Given the description of an element on the screen output the (x, y) to click on. 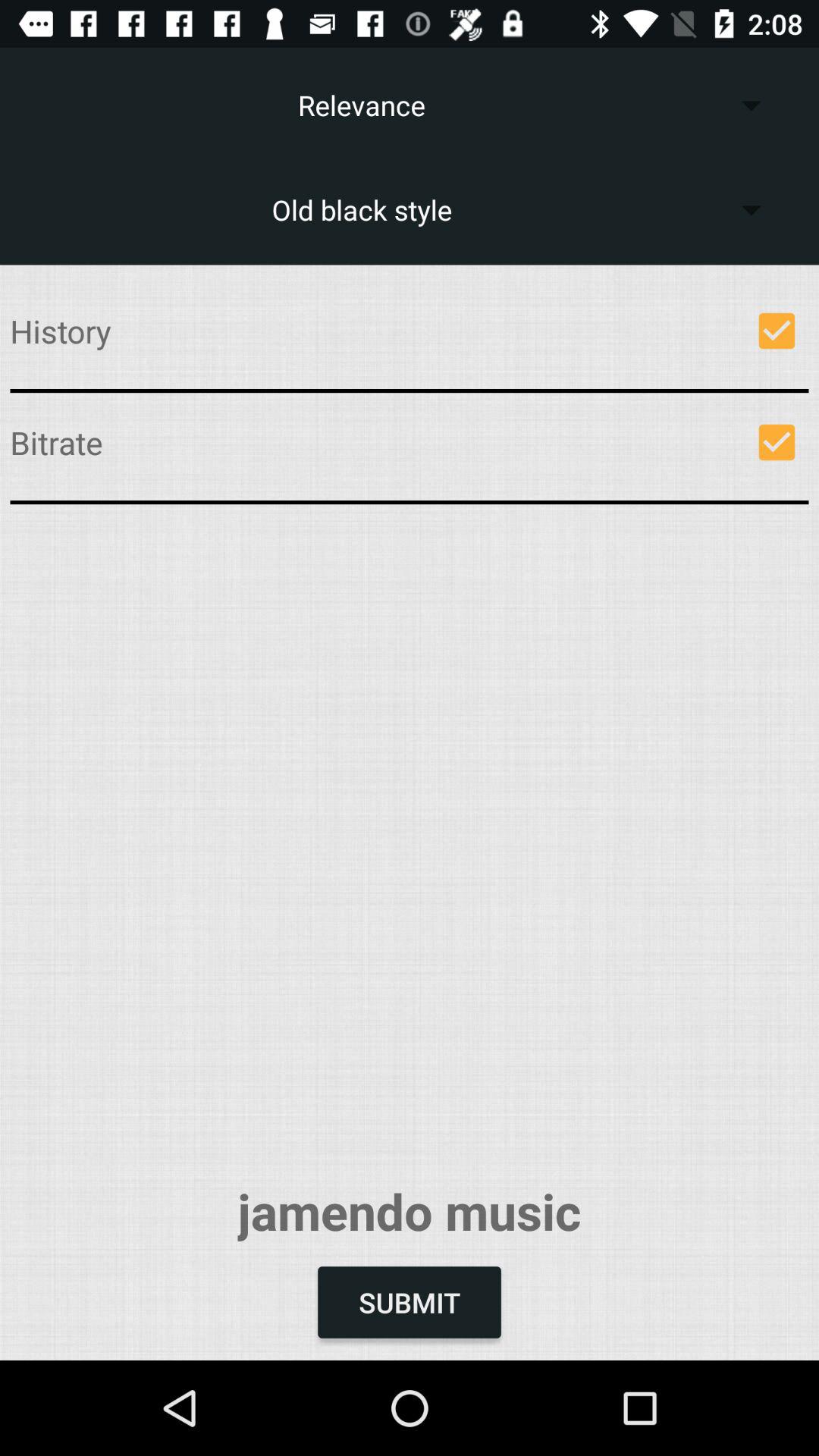
flip to the submit icon (409, 1302)
